Given the description of an element on the screen output the (x, y) to click on. 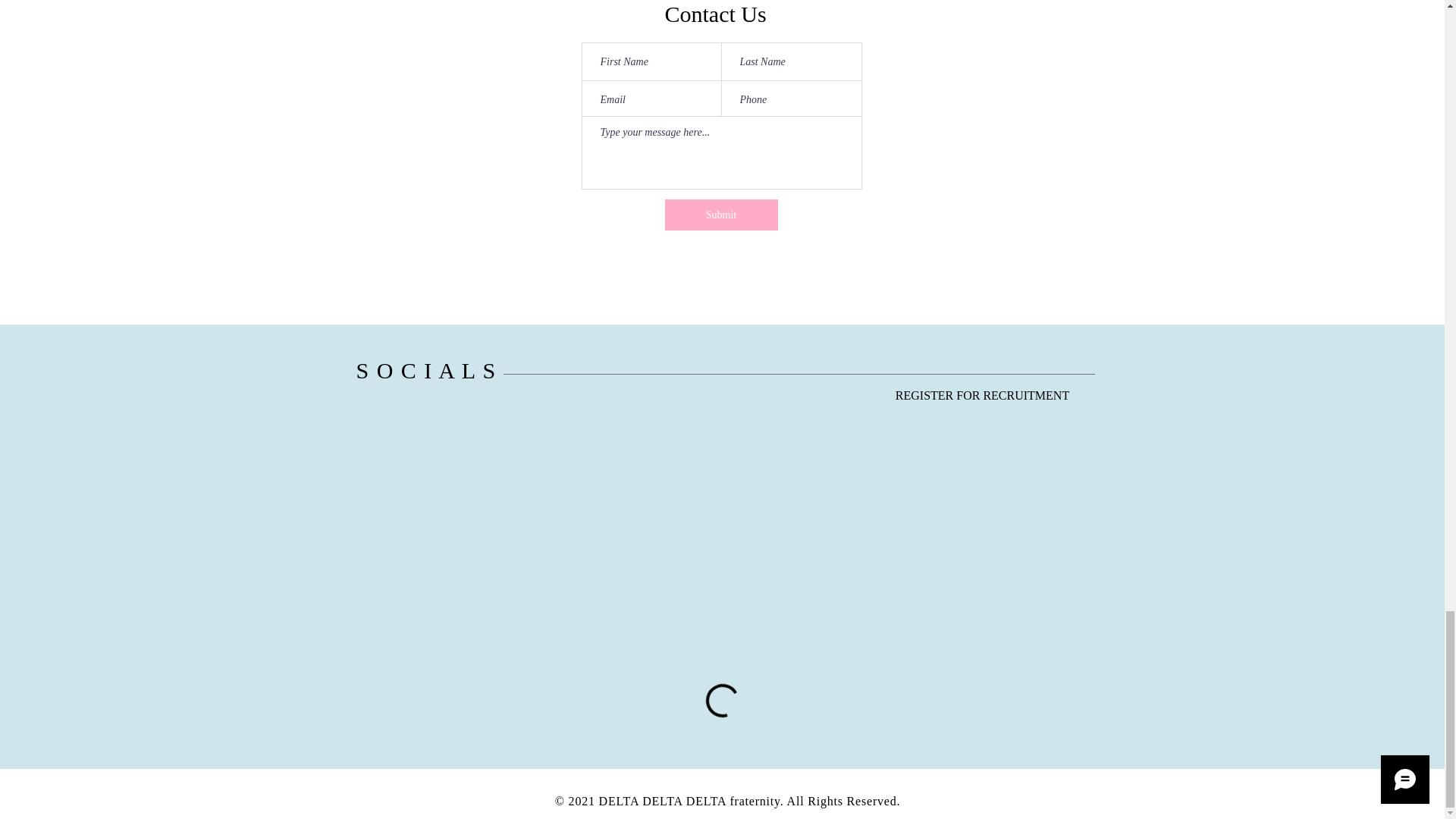
Submit (720, 214)
S O C I A L S (426, 370)
REGISTER FOR RECRUITMENT (981, 396)
